Given the description of an element on the screen output the (x, y) to click on. 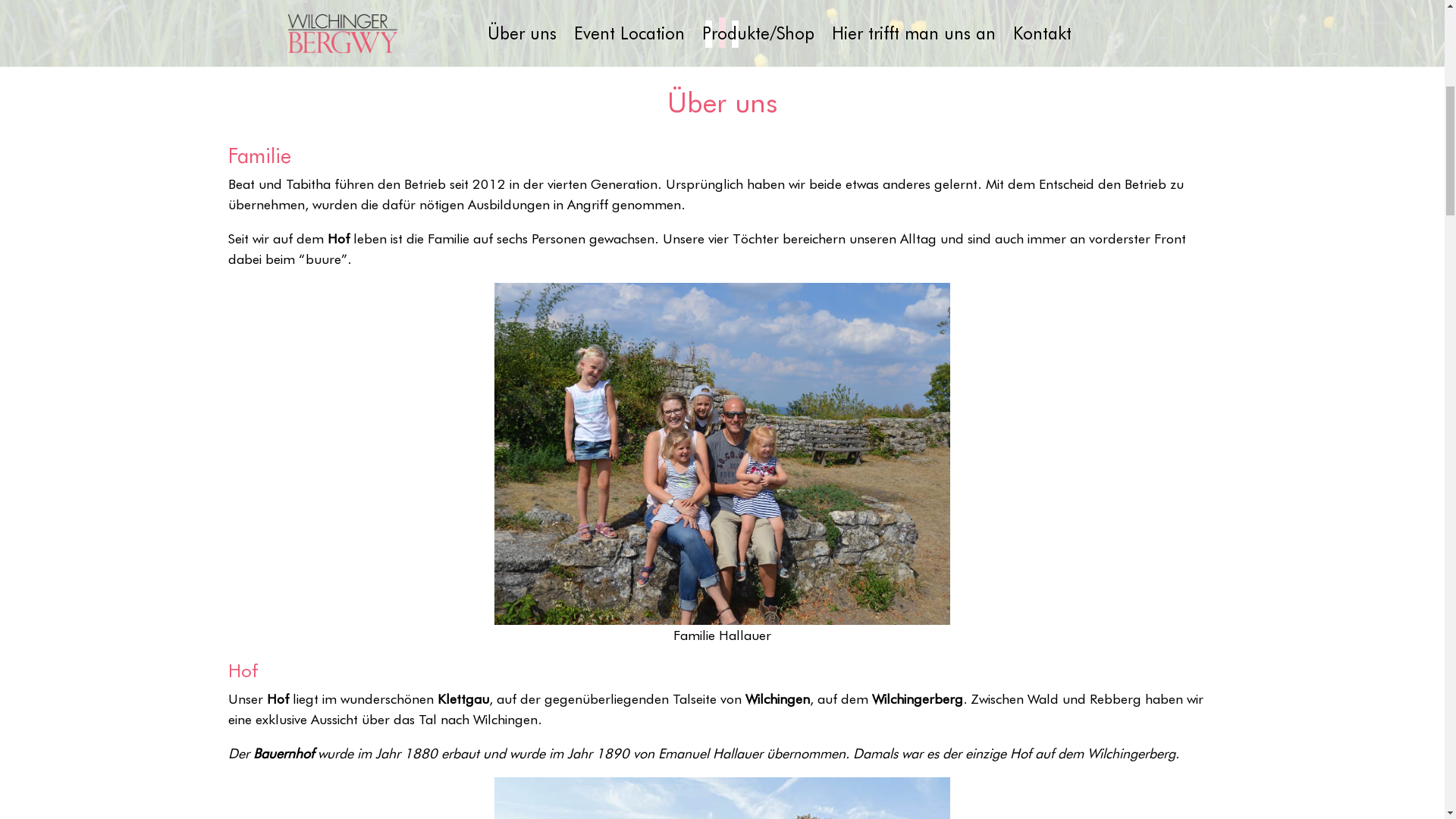
Event Location Element type: text (629, 512)
Produkte/Shop Element type: text (758, 512)
Hier trifft man uns an Element type: text (913, 512)
Kontakt Element type: text (1042, 512)
